Given the description of an element on the screen output the (x, y) to click on. 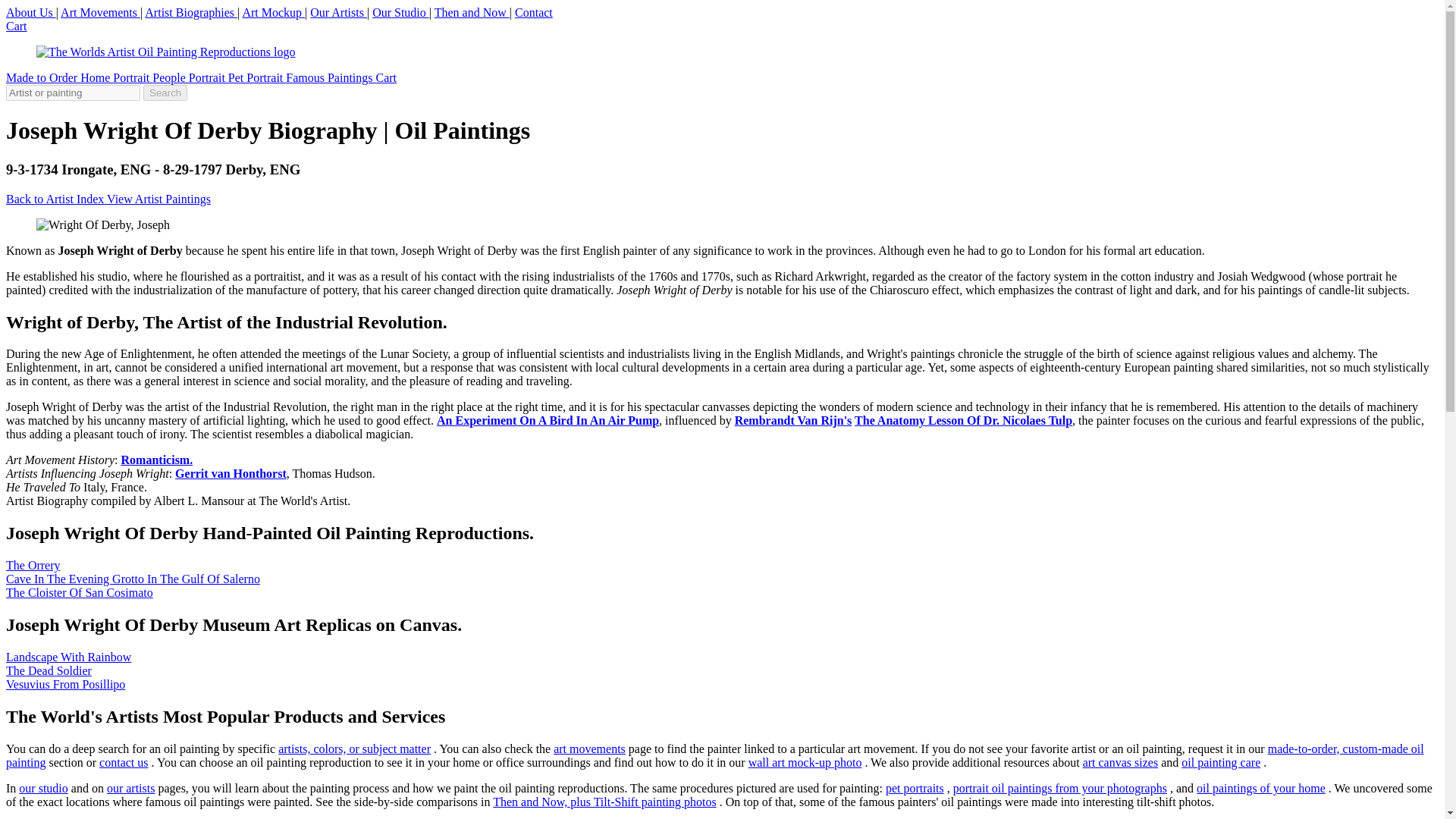
Gerrit van Honthorst (230, 472)
An Experiment On A Bird In An Air Pump (547, 420)
pet portraits (914, 788)
The Anatomy Lesson Of Dr. Nicolaes Tulp (962, 420)
made-to-order, custom-made oil painting (714, 755)
Then and Now (471, 11)
artists, colors, or subject matter (354, 748)
art canvas sizes (1120, 762)
View Artist Paintings (158, 198)
Home Portrait (116, 77)
Rembrandt Van Rijn's (793, 420)
Our Studio (400, 11)
People Portrait (190, 77)
Cart (386, 77)
Back to Artist Index (55, 198)
